Given the description of an element on the screen output the (x, y) to click on. 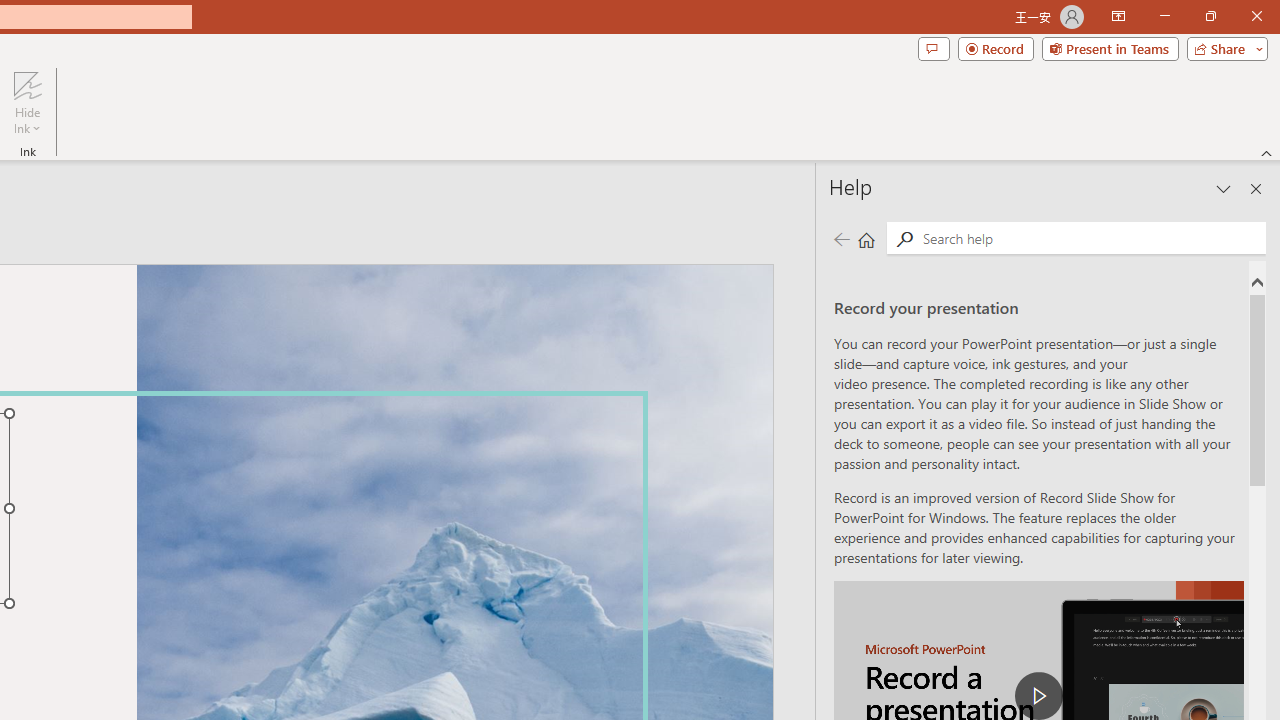
Hide Ink (27, 102)
play Record a Presentation (1038, 695)
Hide Ink (27, 84)
Previous page (841, 238)
